Given the description of an element on the screen output the (x, y) to click on. 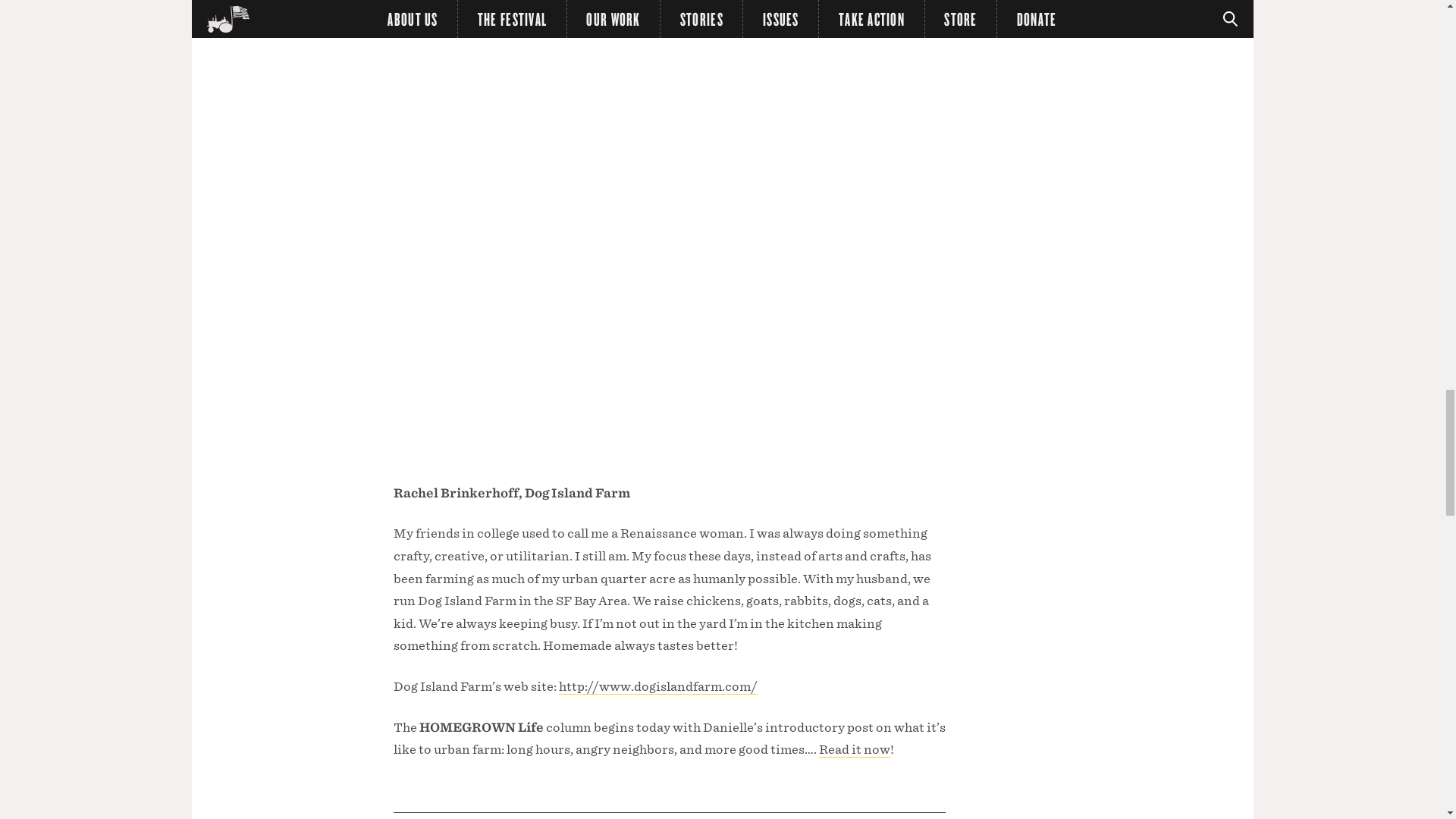
Read it now (853, 749)
